Given the description of an element on the screen output the (x, y) to click on. 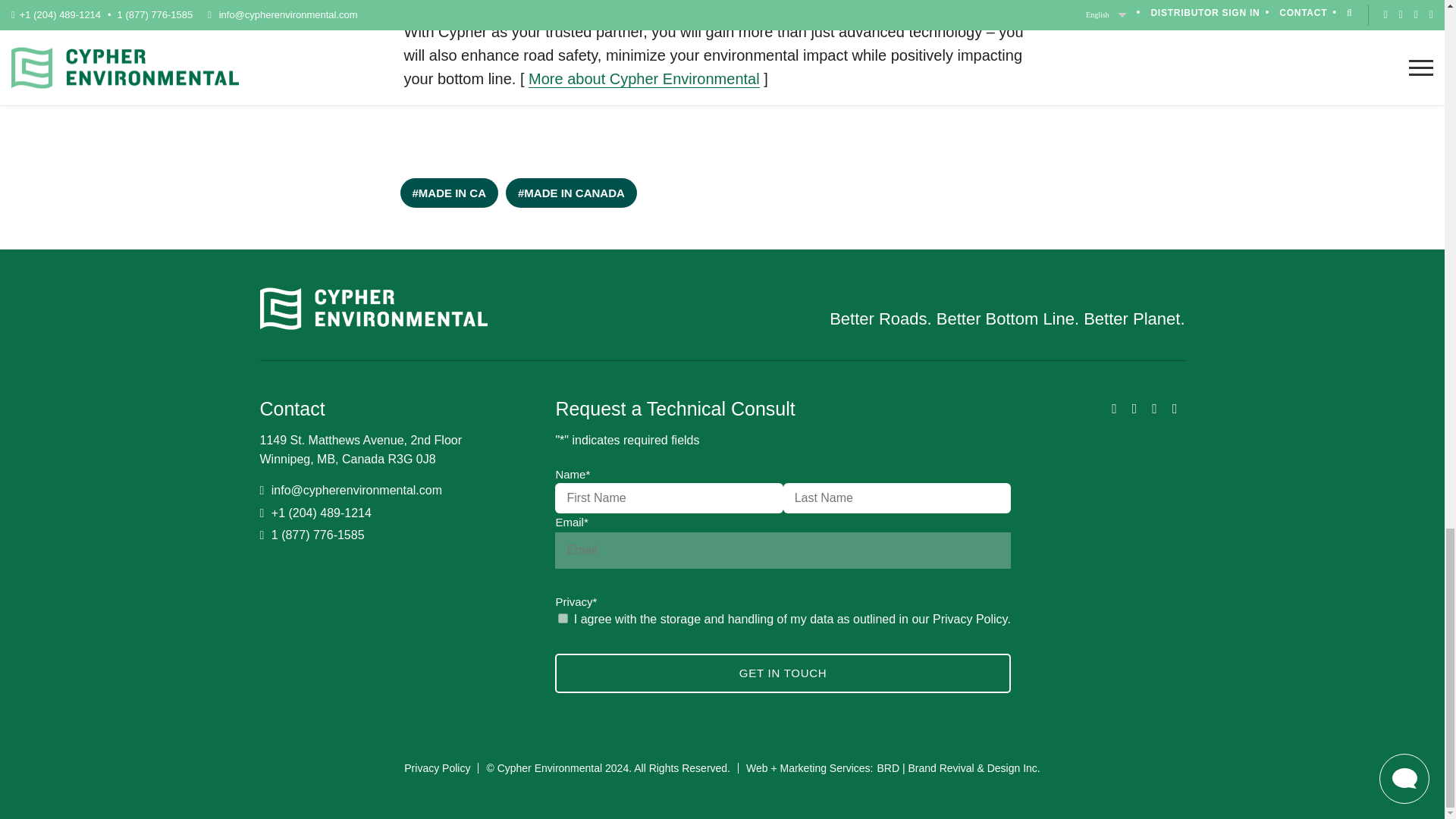
Get in Touch (782, 672)
